Given the description of an element on the screen output the (x, y) to click on. 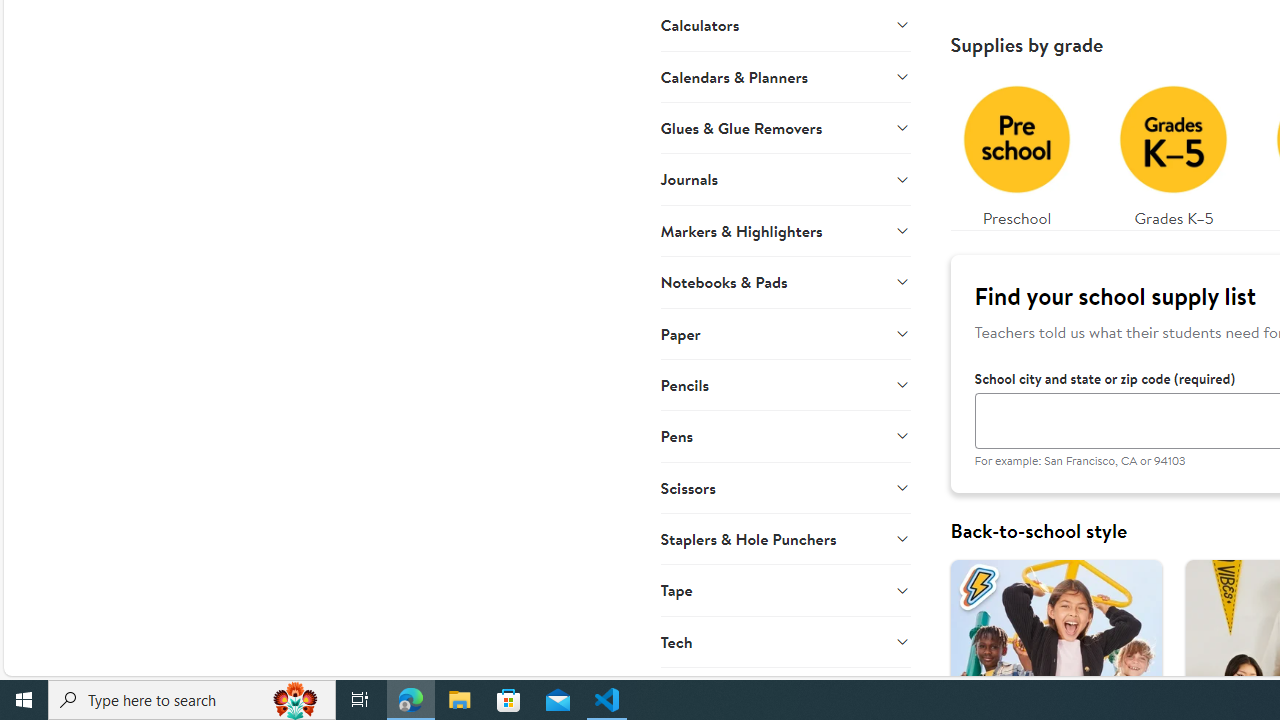
Preschool (1016, 150)
Scissors (785, 487)
Markers & Highlighters (785, 230)
Notebooks & Pads (785, 282)
Tech (785, 641)
Calendars & Planners (785, 75)
